Given the description of an element on the screen output the (x, y) to click on. 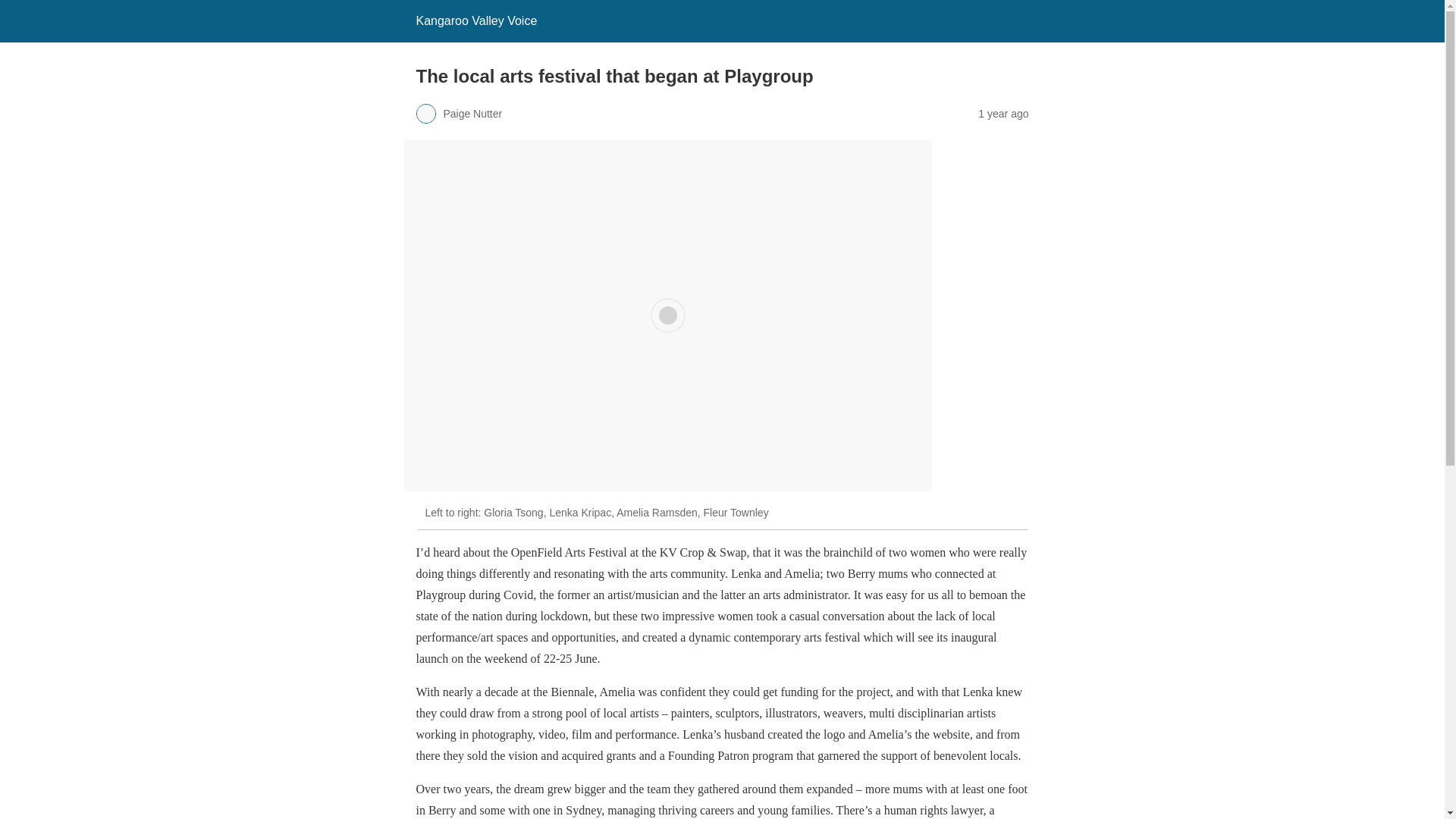
Kangaroo Valley Voice (475, 20)
